Given the description of an element on the screen output the (x, y) to click on. 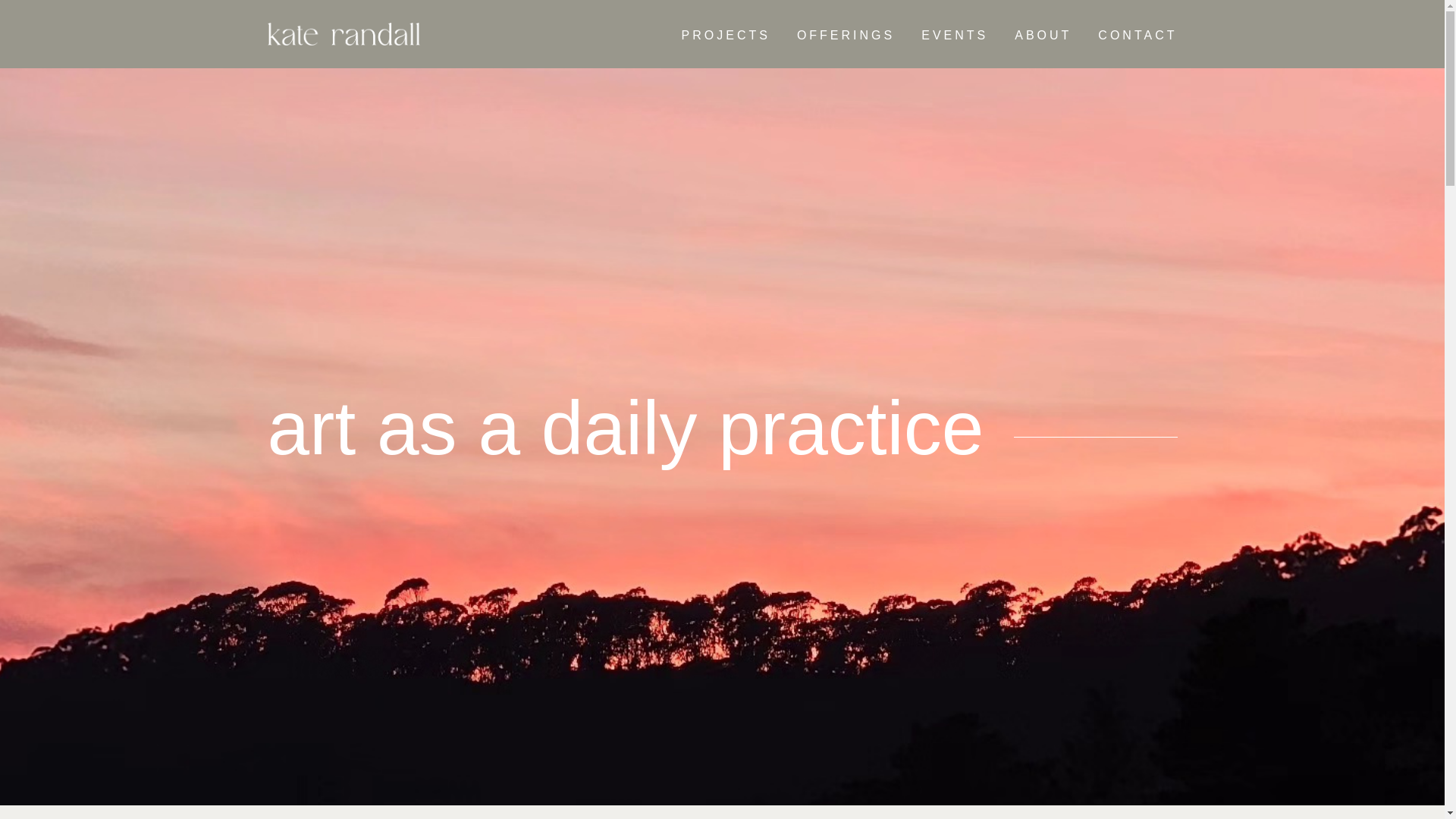
PROJECTS (725, 35)
CONTACT (1136, 35)
ABOUT (1042, 35)
EVENTS (954, 35)
OFFERINGS (845, 35)
